Given the description of an element on the screen output the (x, y) to click on. 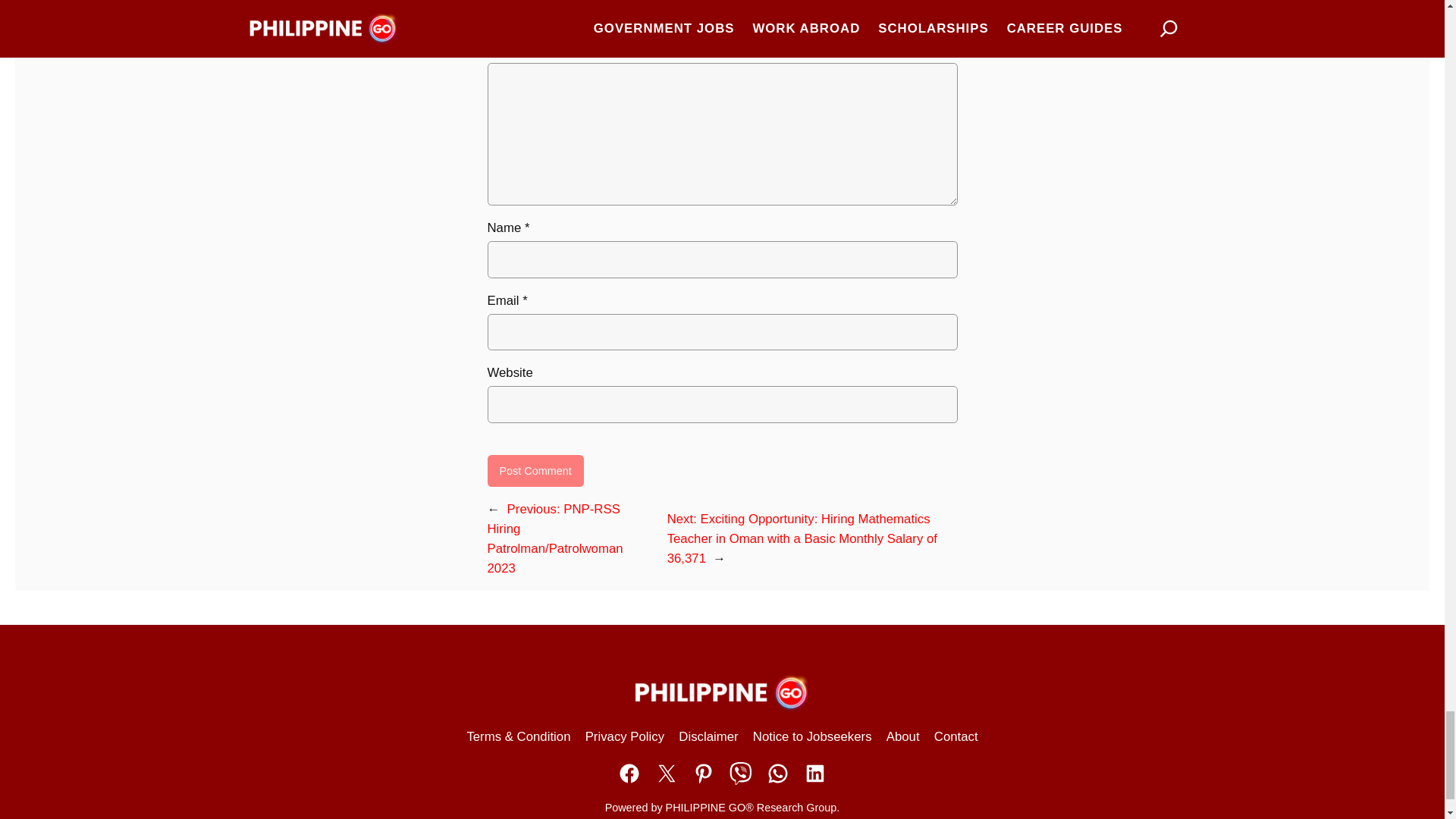
Contact (956, 736)
Share on Facebook (628, 773)
Notice to Jobseekers (812, 736)
Share on WhatsApp (778, 773)
Disclaimer (708, 736)
Privacy Policy (624, 736)
Share on X (666, 773)
Share on LinkedIn (815, 773)
Share on Pinterest (703, 773)
